Given the description of an element on the screen output the (x, y) to click on. 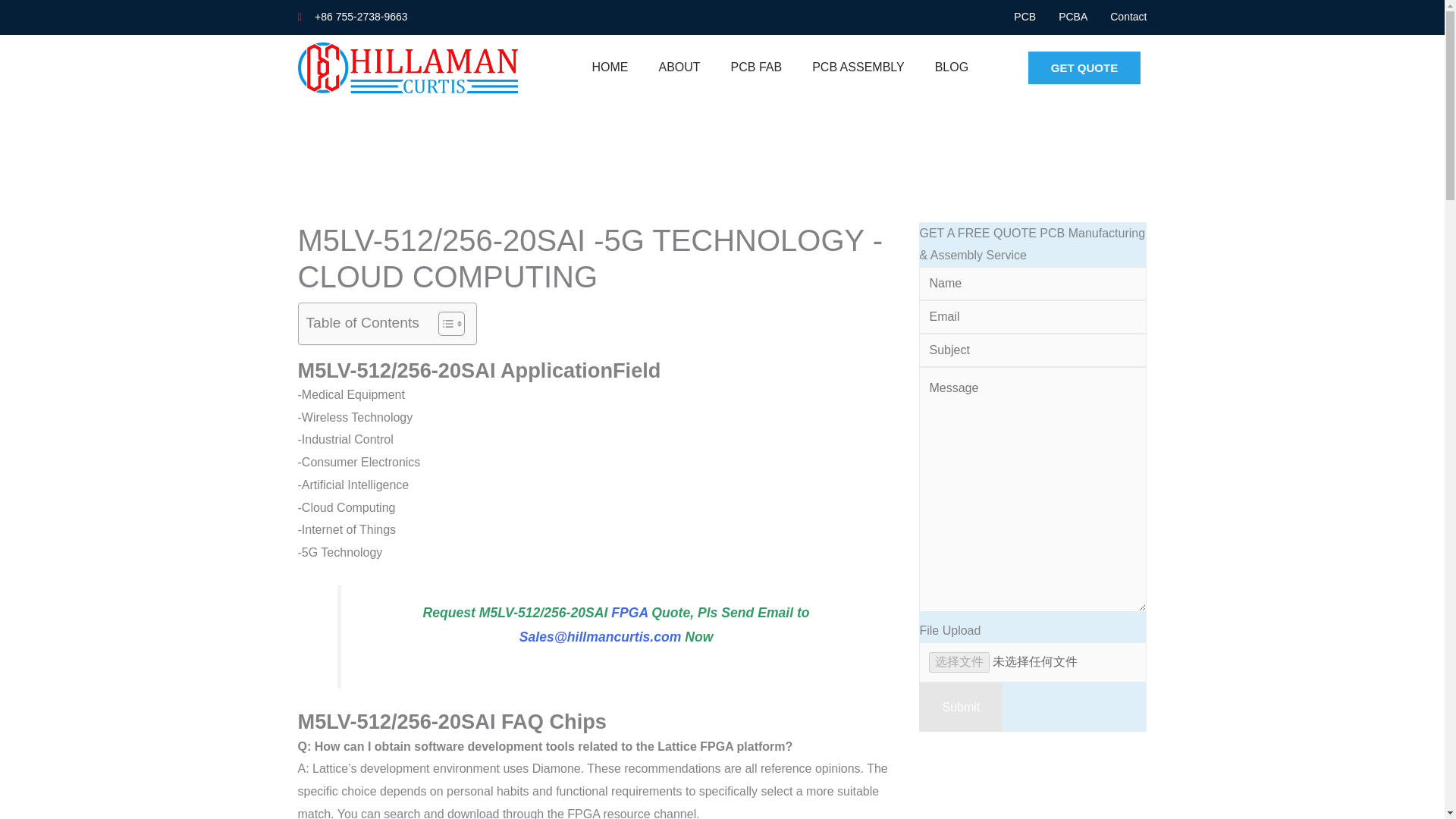
Contact (1128, 17)
PCBA (1072, 17)
PCB ASSEMBLY (858, 67)
BLOG (952, 67)
HOME (609, 67)
Submit (960, 707)
GET QUOTE (1083, 67)
PCB (1024, 17)
ABOUT (678, 67)
Submit (960, 707)
PCB FAB (756, 67)
FPGA (629, 612)
